Given the description of an element on the screen output the (x, y) to click on. 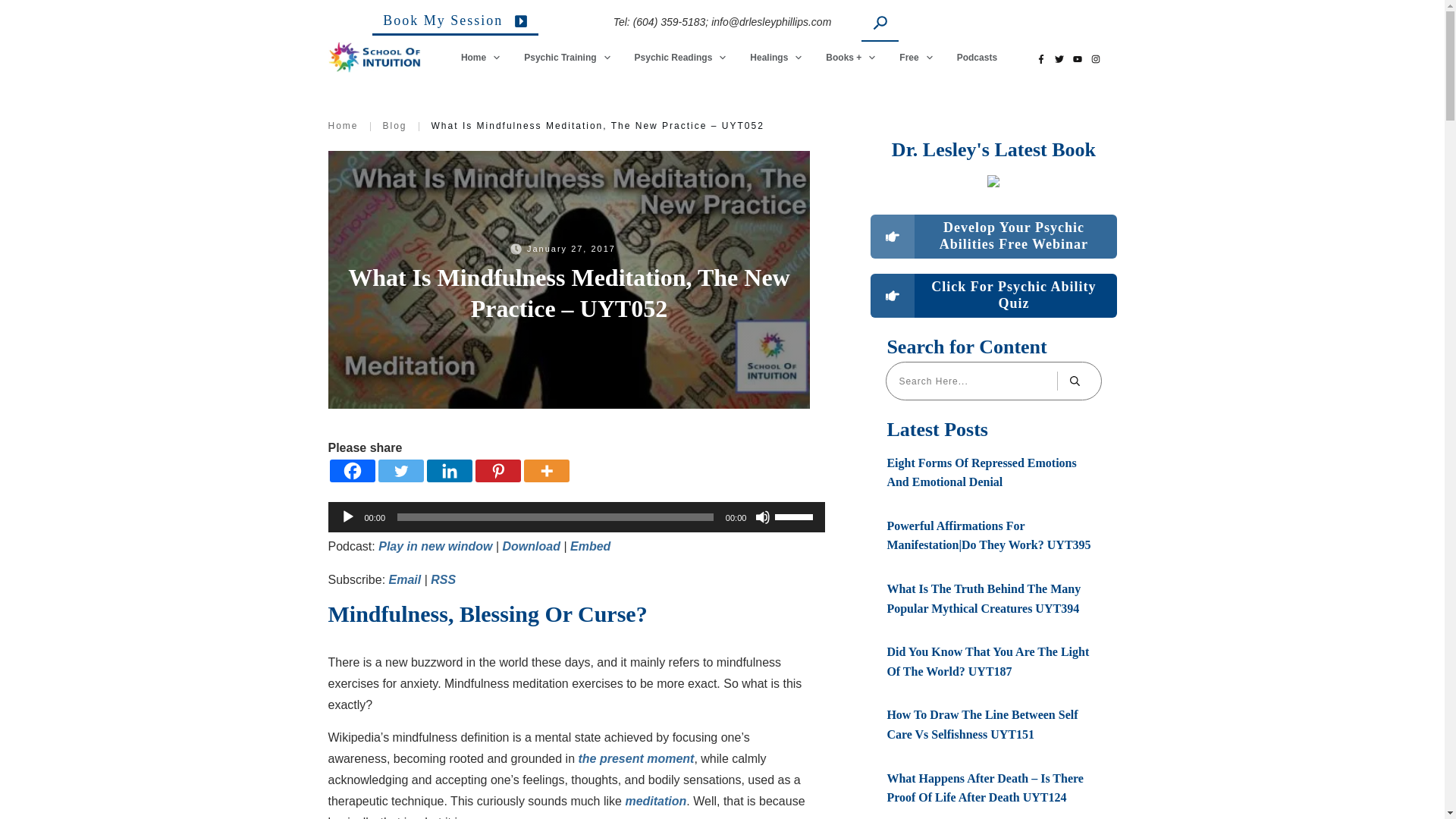
Home (480, 57)
Twitter (400, 470)
Download (530, 545)
Mute (762, 516)
Podcasts (976, 57)
Psychic Training (567, 57)
Book My Session (455, 24)
Facebook (351, 470)
Subscribe by Email (405, 579)
Subscribe via RSS (442, 579)
